Given the description of an element on the screen output the (x, y) to click on. 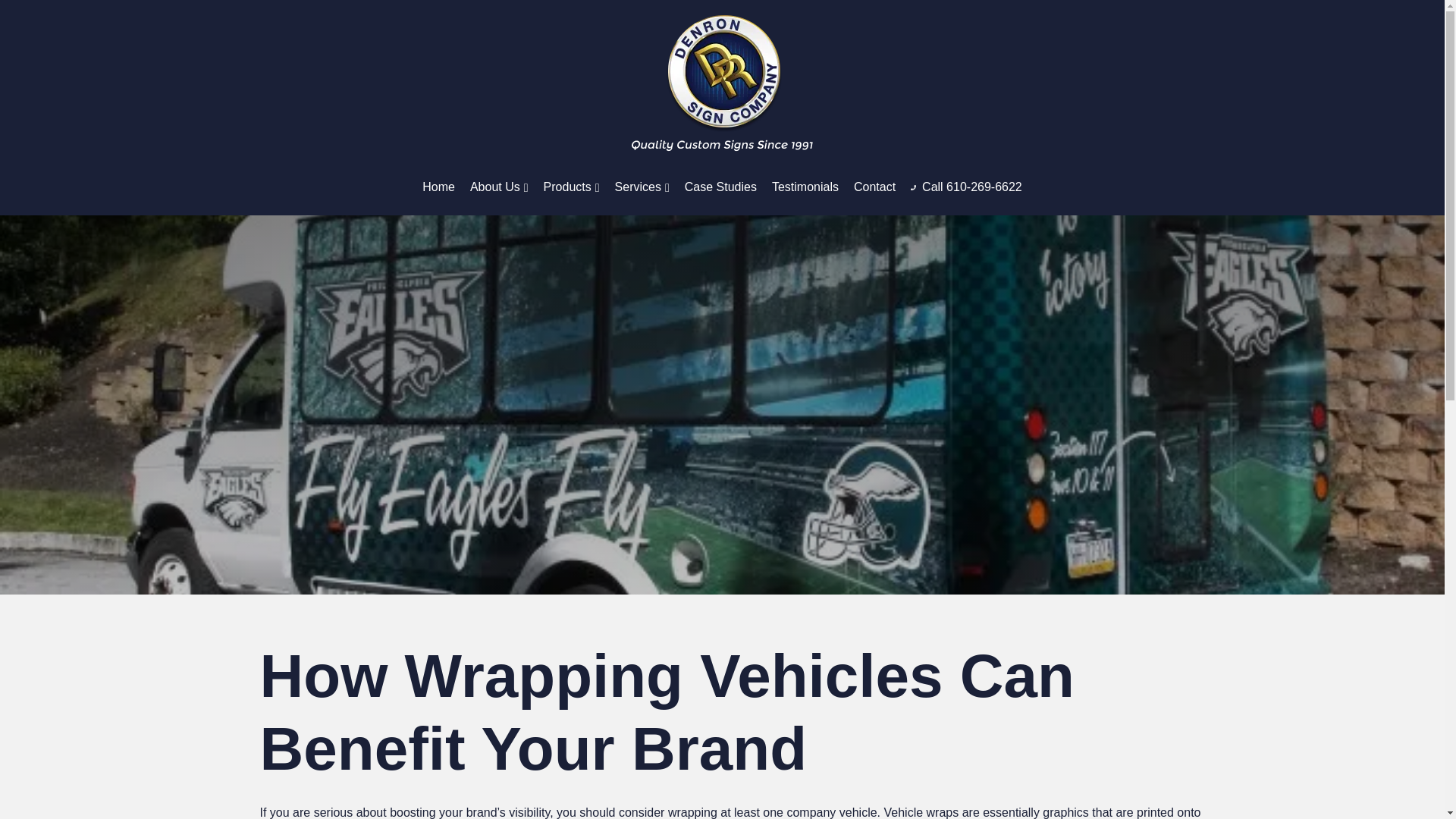
Contact (874, 186)
Call 610-269-6622 (966, 186)
Services (641, 186)
Testimonials (805, 186)
Products (572, 186)
About Us (498, 186)
Products (572, 186)
Home (438, 186)
About Us (498, 186)
Case Studies (720, 186)
